Given the description of an element on the screen output the (x, y) to click on. 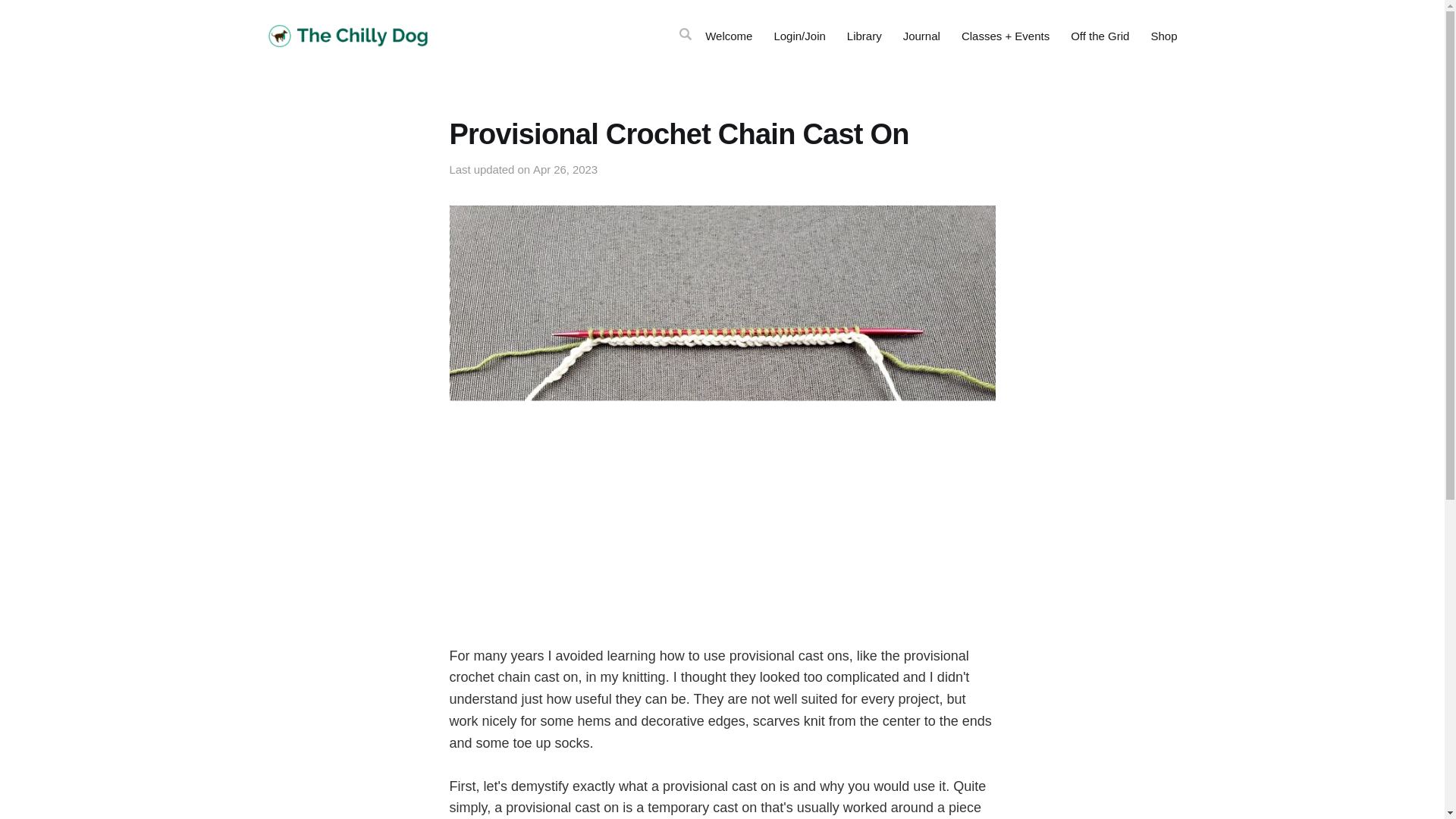
Off the Grid (1099, 35)
Library (864, 35)
Journal (921, 35)
Shop (1163, 35)
Welcome (728, 35)
